Given the description of an element on the screen output the (x, y) to click on. 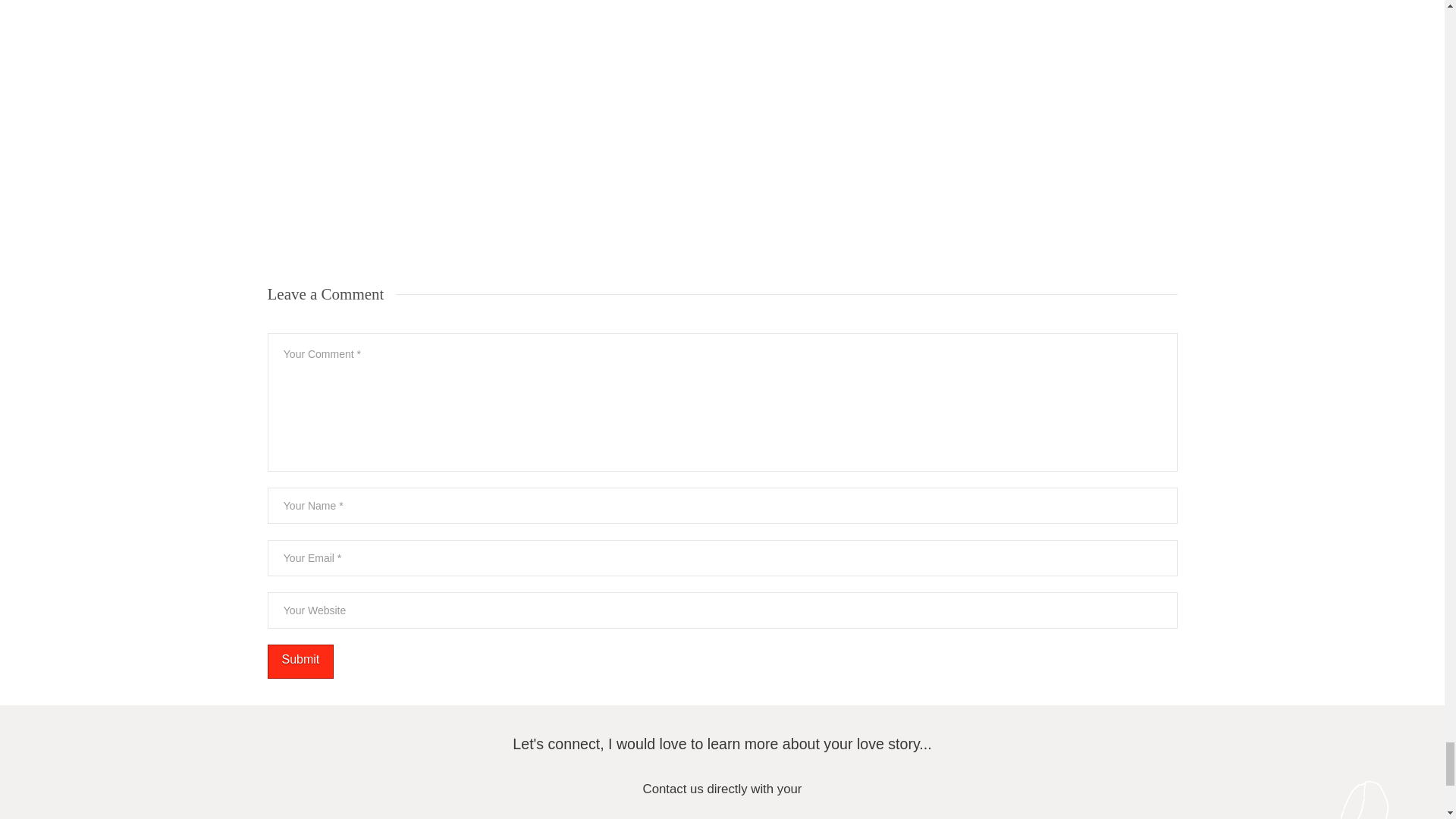
Submit (299, 661)
